Given the description of an element on the screen output the (x, y) to click on. 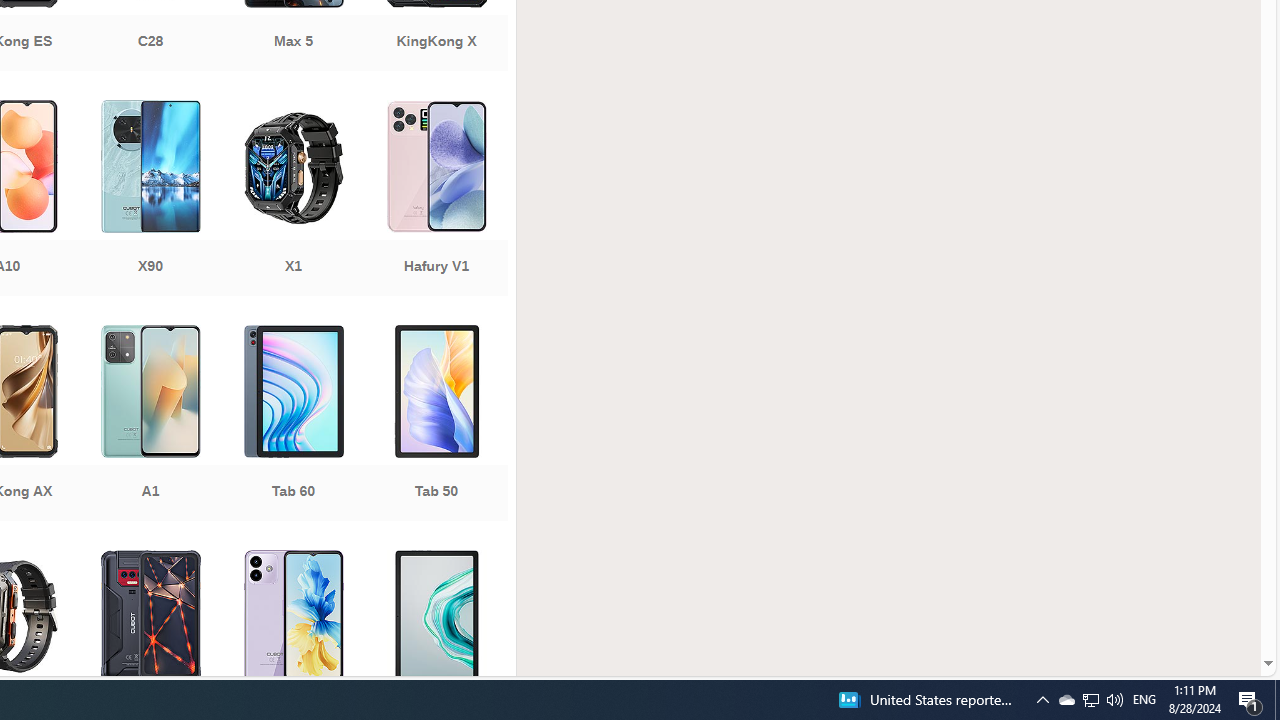
A1 (150, 425)
X90 (150, 200)
Hafury V1 (436, 200)
Tab 60 (292, 425)
